Given the description of an element on the screen output the (x, y) to click on. 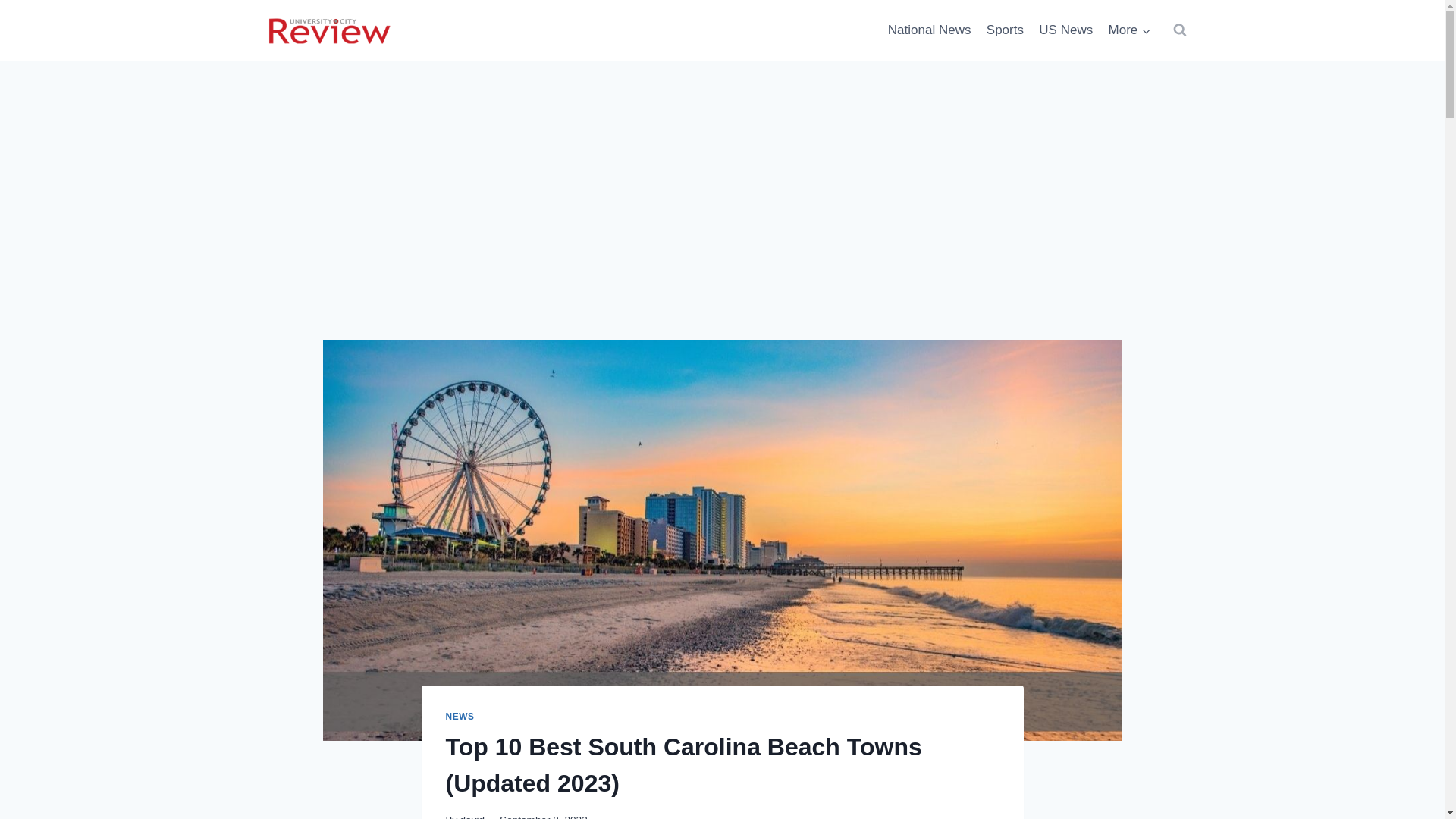
US News (1065, 30)
david (472, 816)
Advertisement (722, 227)
More (1128, 30)
National News (929, 30)
Sports (1005, 30)
NEWS (459, 716)
